Given the description of an element on the screen output the (x, y) to click on. 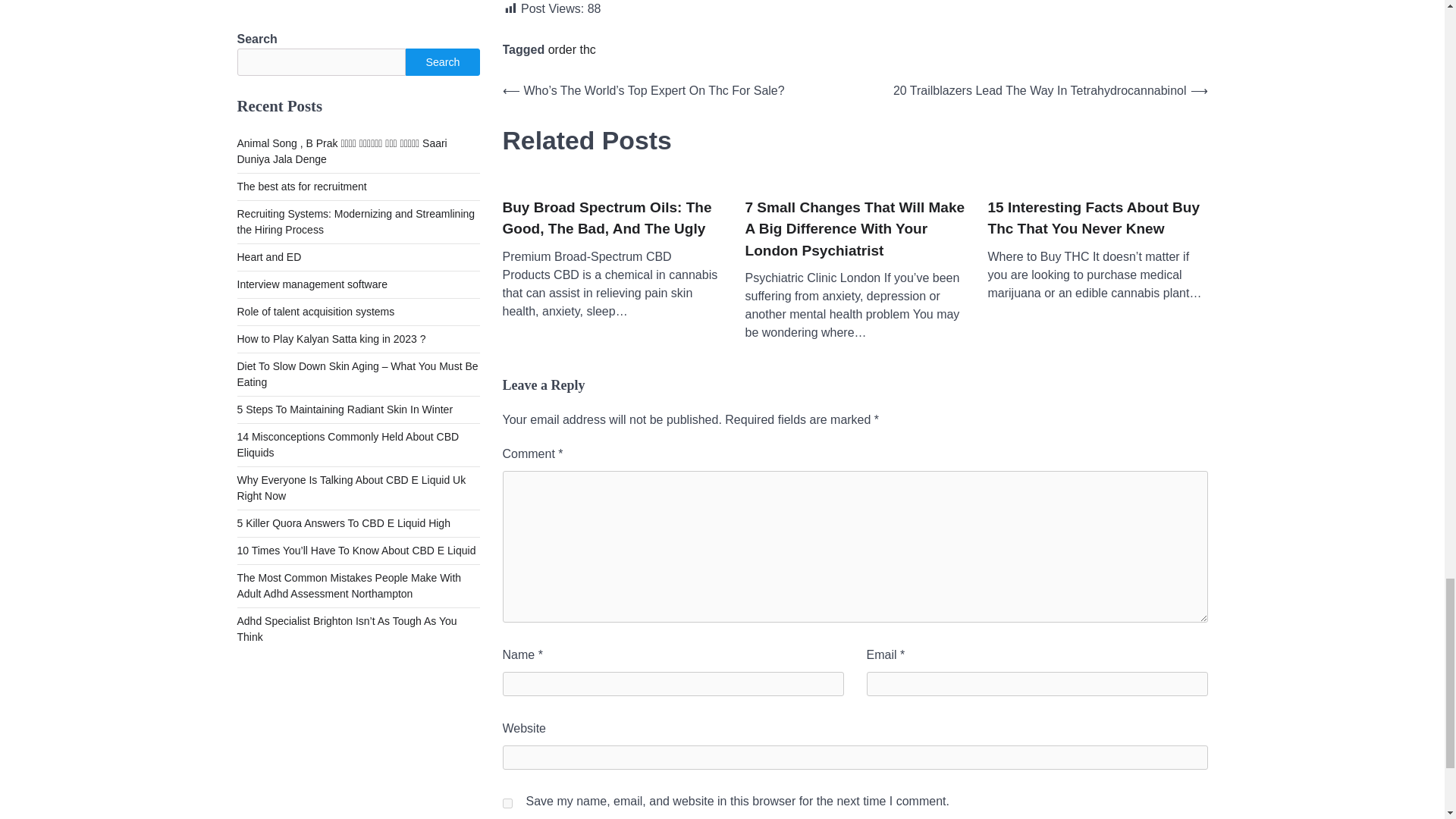
order thc (571, 49)
Buy Broad Spectrum Oils: The Good, The Bad, And The Ugly (612, 218)
15 Interesting Facts About Buy Thc That You Never Knew (1097, 218)
yes (507, 803)
